Given the description of an element on the screen output the (x, y) to click on. 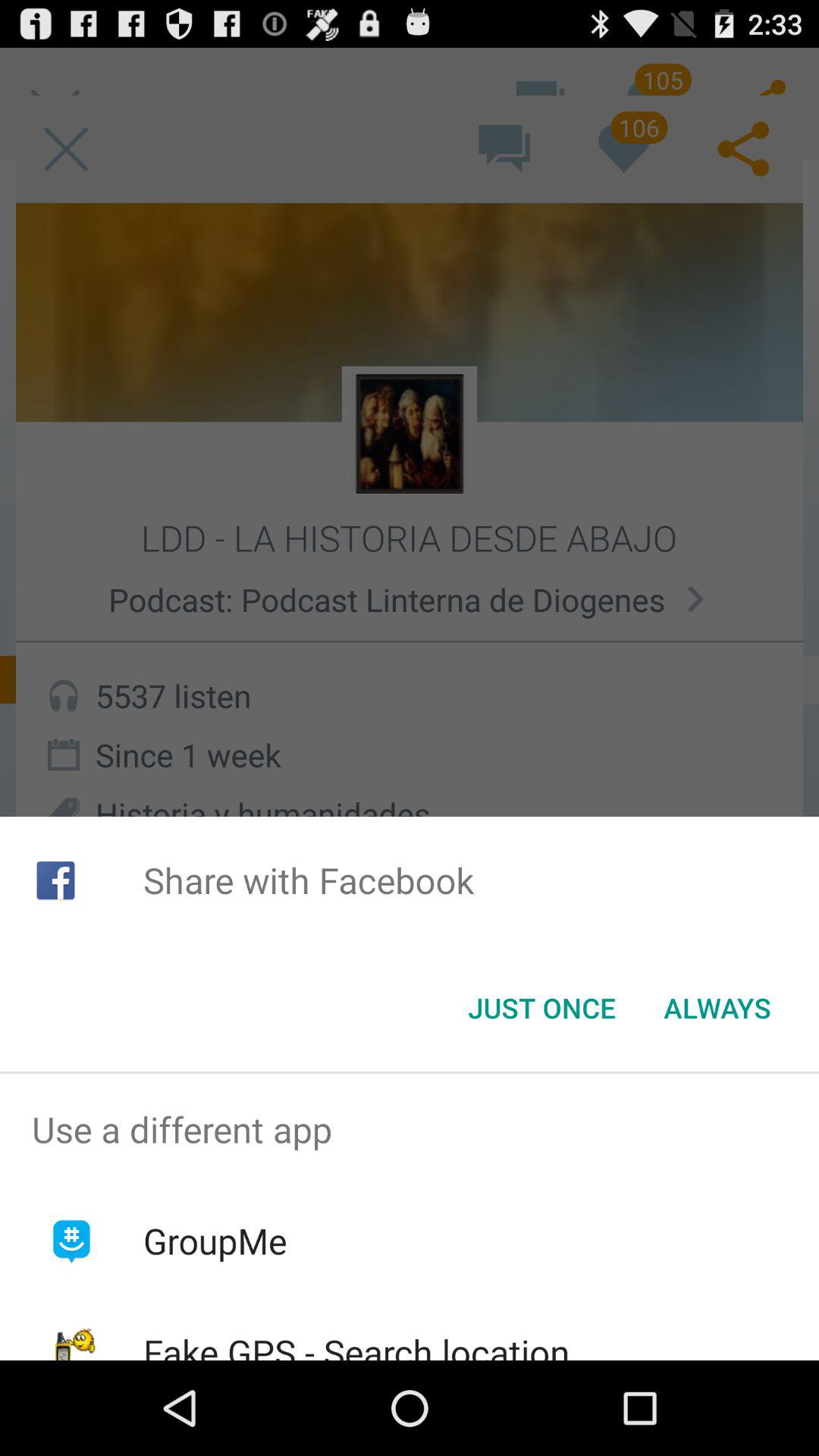
open the icon above the fake gps search app (215, 1240)
